Given the description of an element on the screen output the (x, y) to click on. 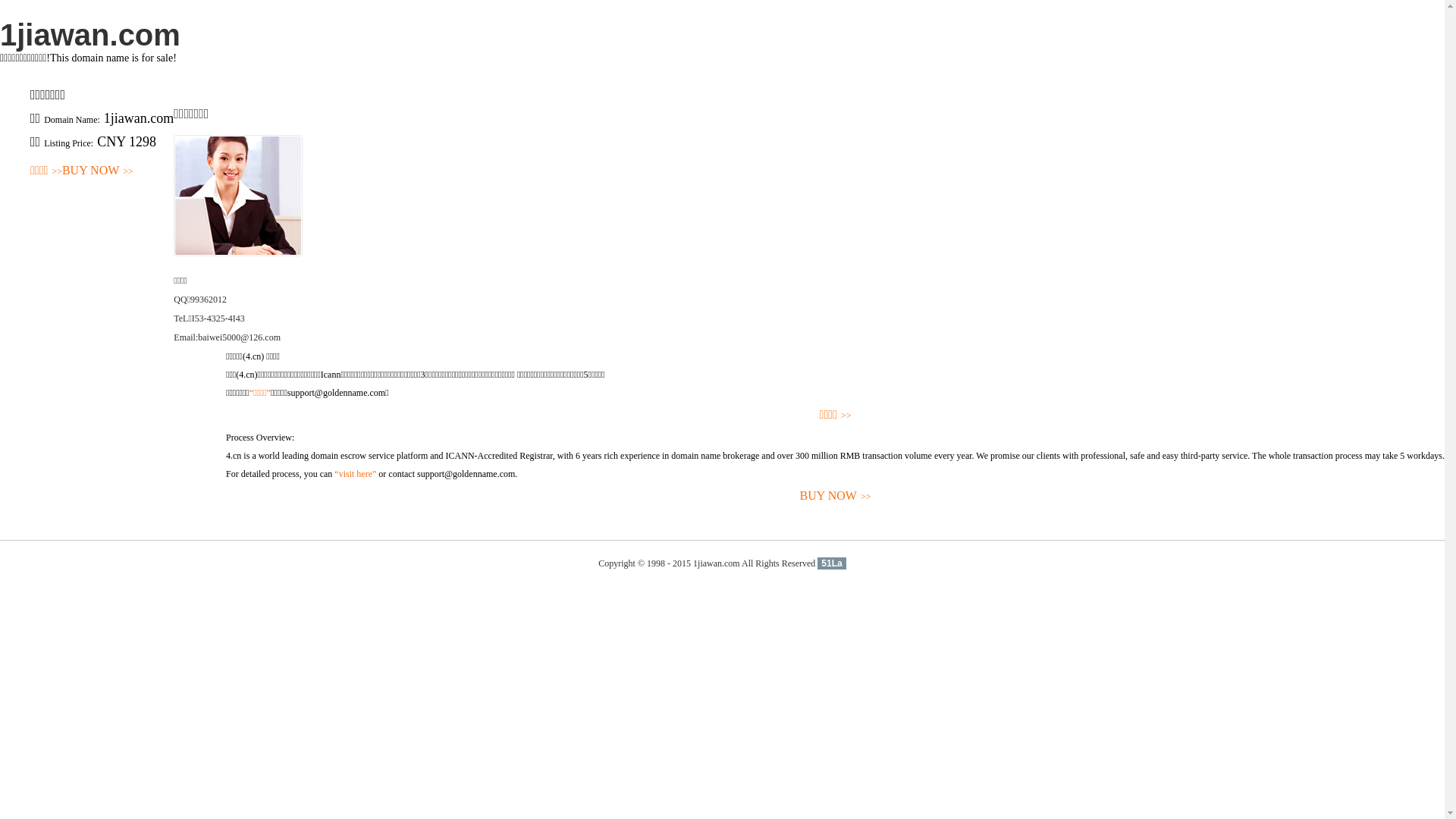
51La Element type: text (831, 563)
BUY NOW>> Element type: text (834, 496)
BUY NOW>> Element type: text (97, 170)
